Given the description of an element on the screen output the (x, y) to click on. 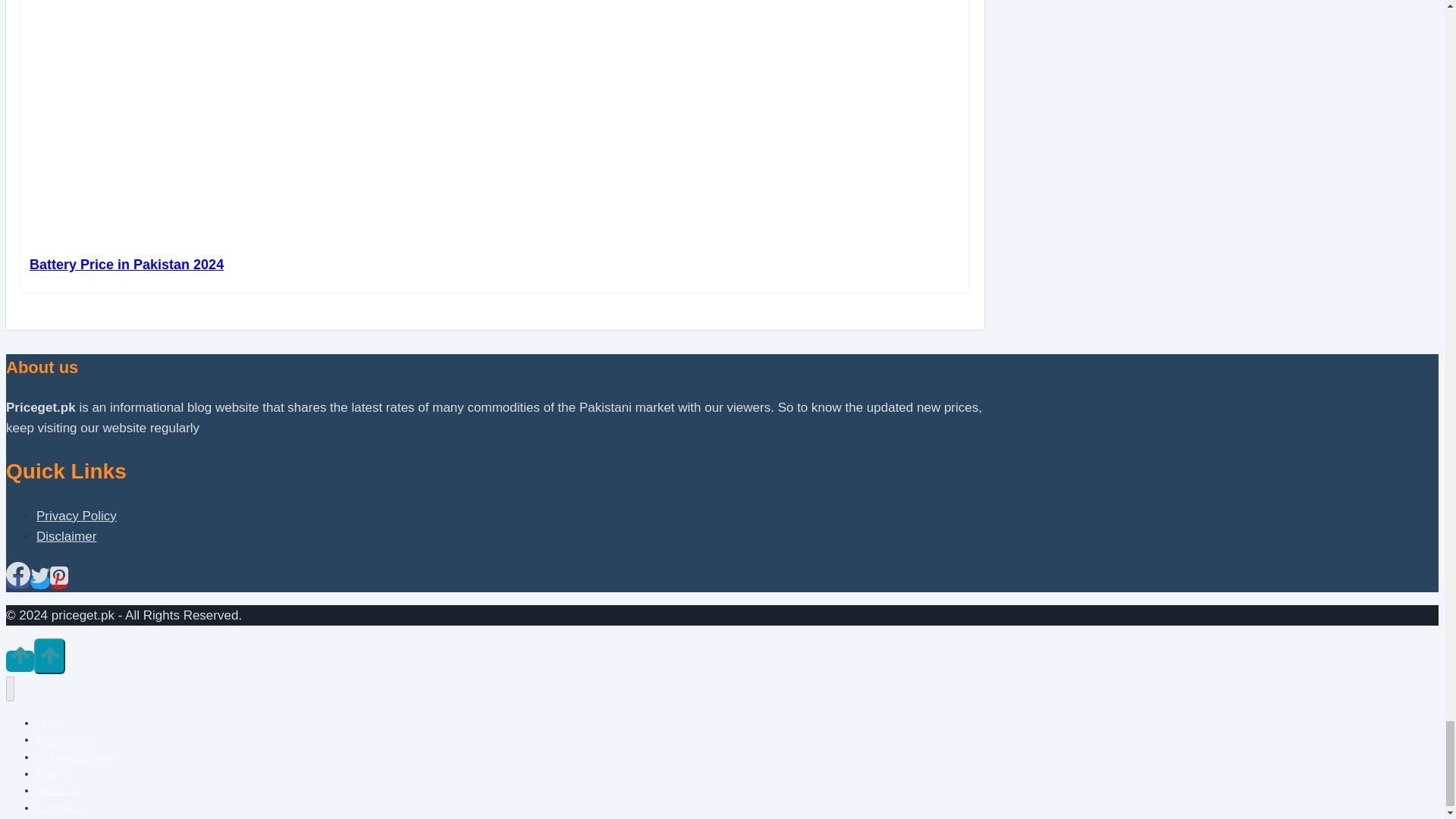
Twitter (39, 581)
Twitter (39, 575)
Facebook (17, 581)
Scroll to top (19, 660)
Battery Price in Pakistan 2024 (126, 264)
Construction (66, 739)
Scroll to top (49, 654)
Scroll to top (19, 660)
Scroll to top (20, 654)
Disclaimer (66, 536)
